Given the description of an element on the screen output the (x, y) to click on. 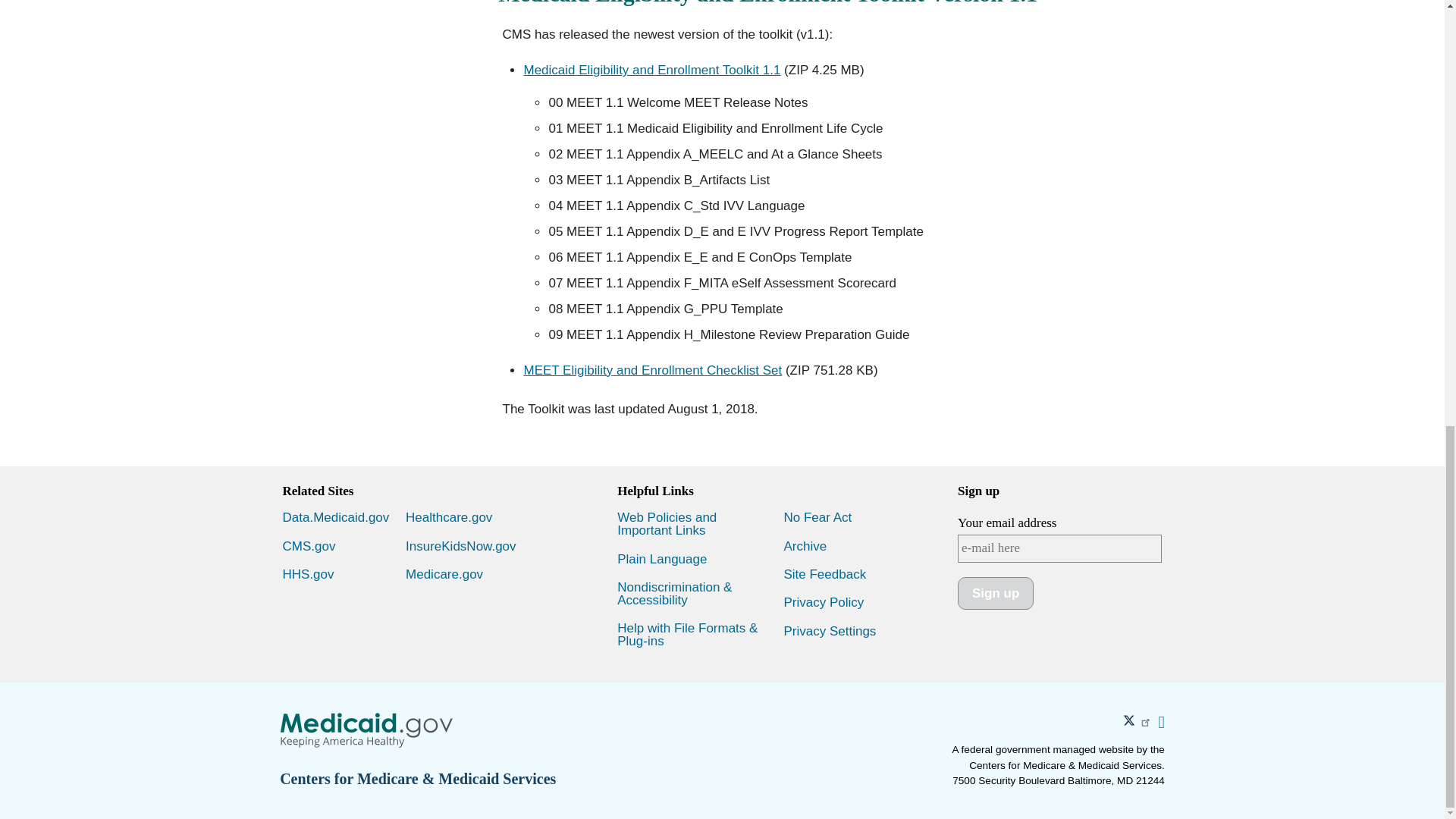
Privacy settings (829, 631)
meet-toolkit (651, 69)
meet-checklist (651, 370)
CMS Twitter - Opens in a new window (1139, 721)
